Given the description of an element on the screen output the (x, y) to click on. 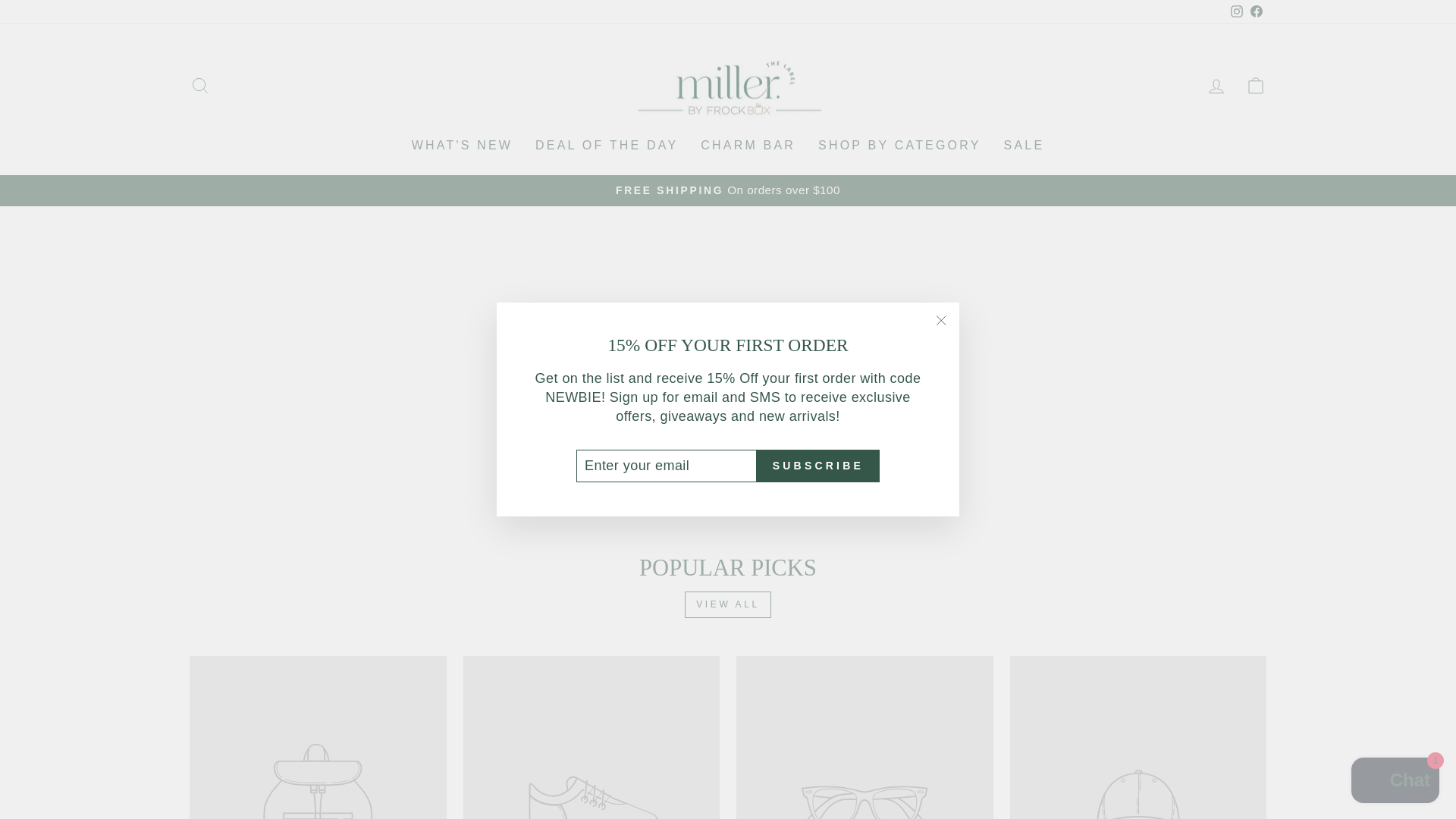
Shopify online store chat (1395, 781)
